Given the description of an element on the screen output the (x, y) to click on. 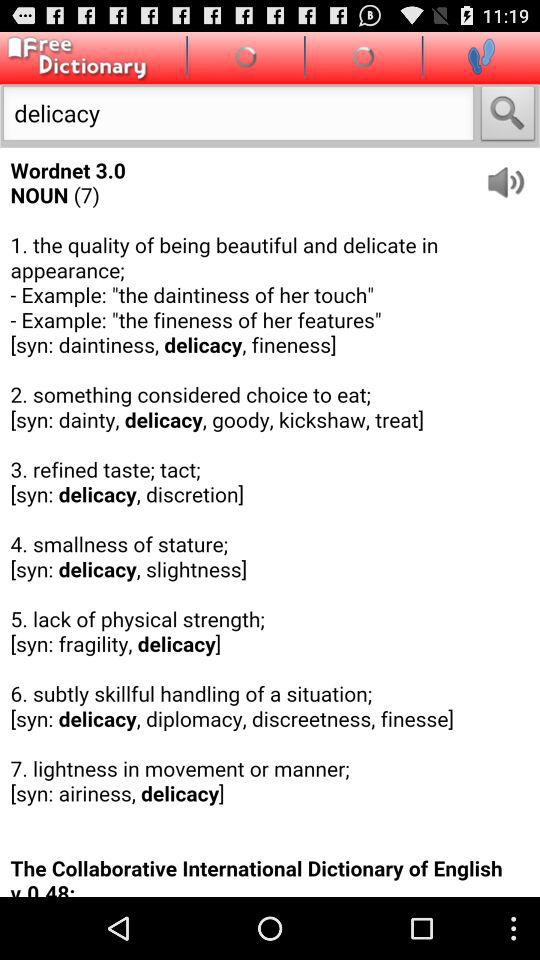
sound volume (512, 174)
